Given the description of an element on the screen output the (x, y) to click on. 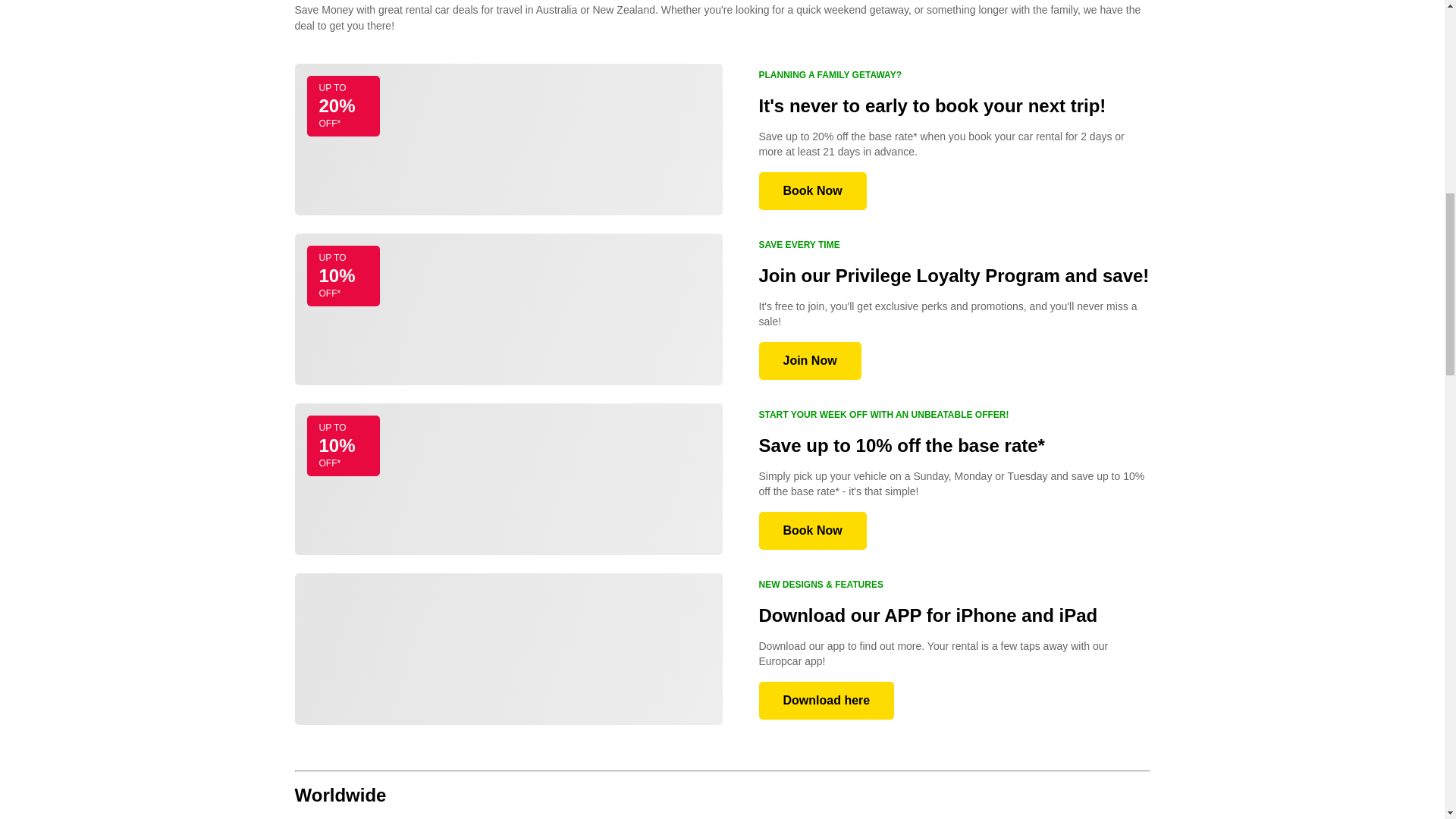
Join Now (809, 361)
Download here (825, 700)
Book Now (812, 530)
Book Now (812, 190)
